Given the description of an element on the screen output the (x, y) to click on. 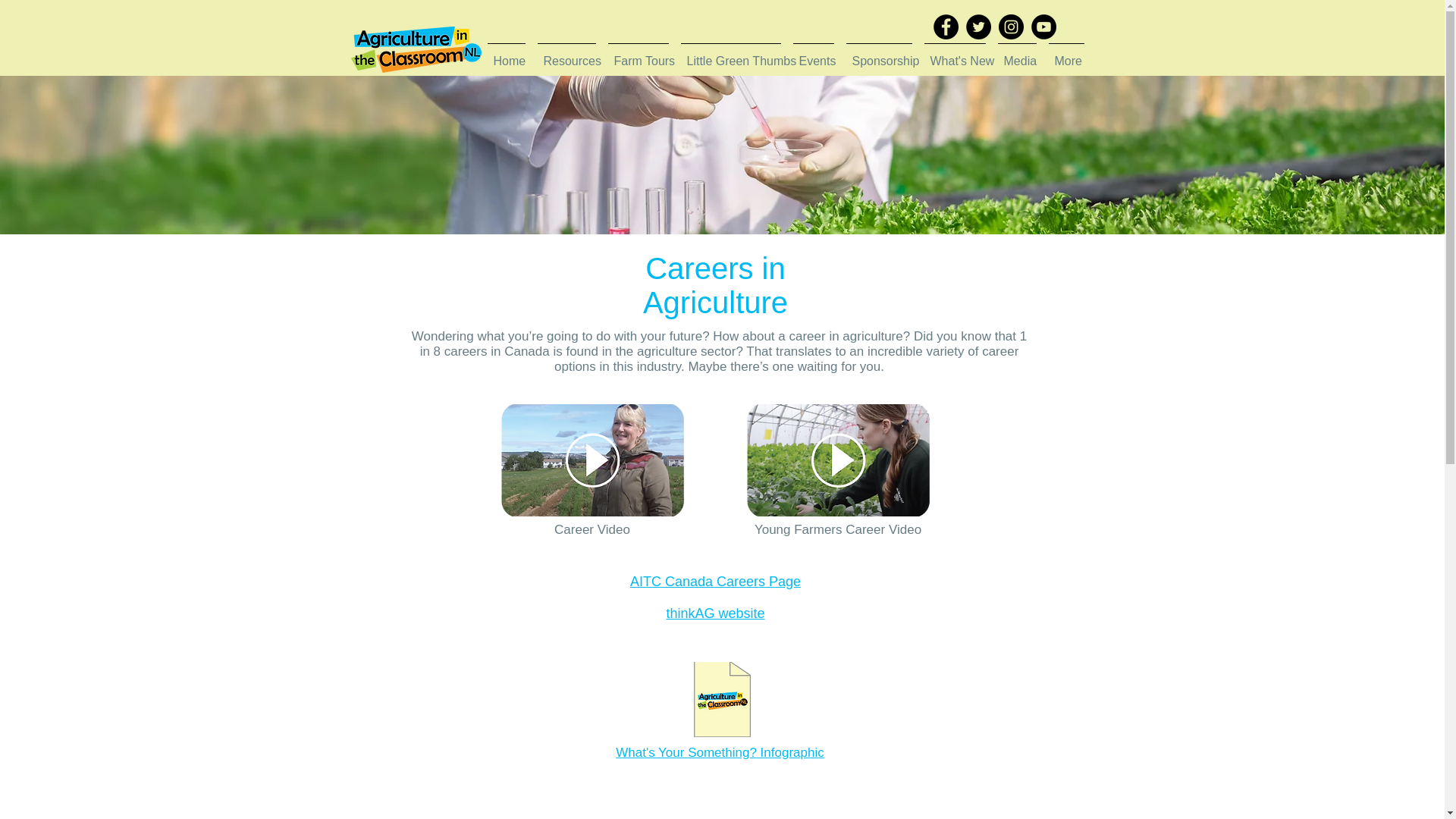
Farm Tours (638, 54)
AITC Canada Careers Page (715, 581)
Home (505, 54)
